Given the description of an element on the screen output the (x, y) to click on. 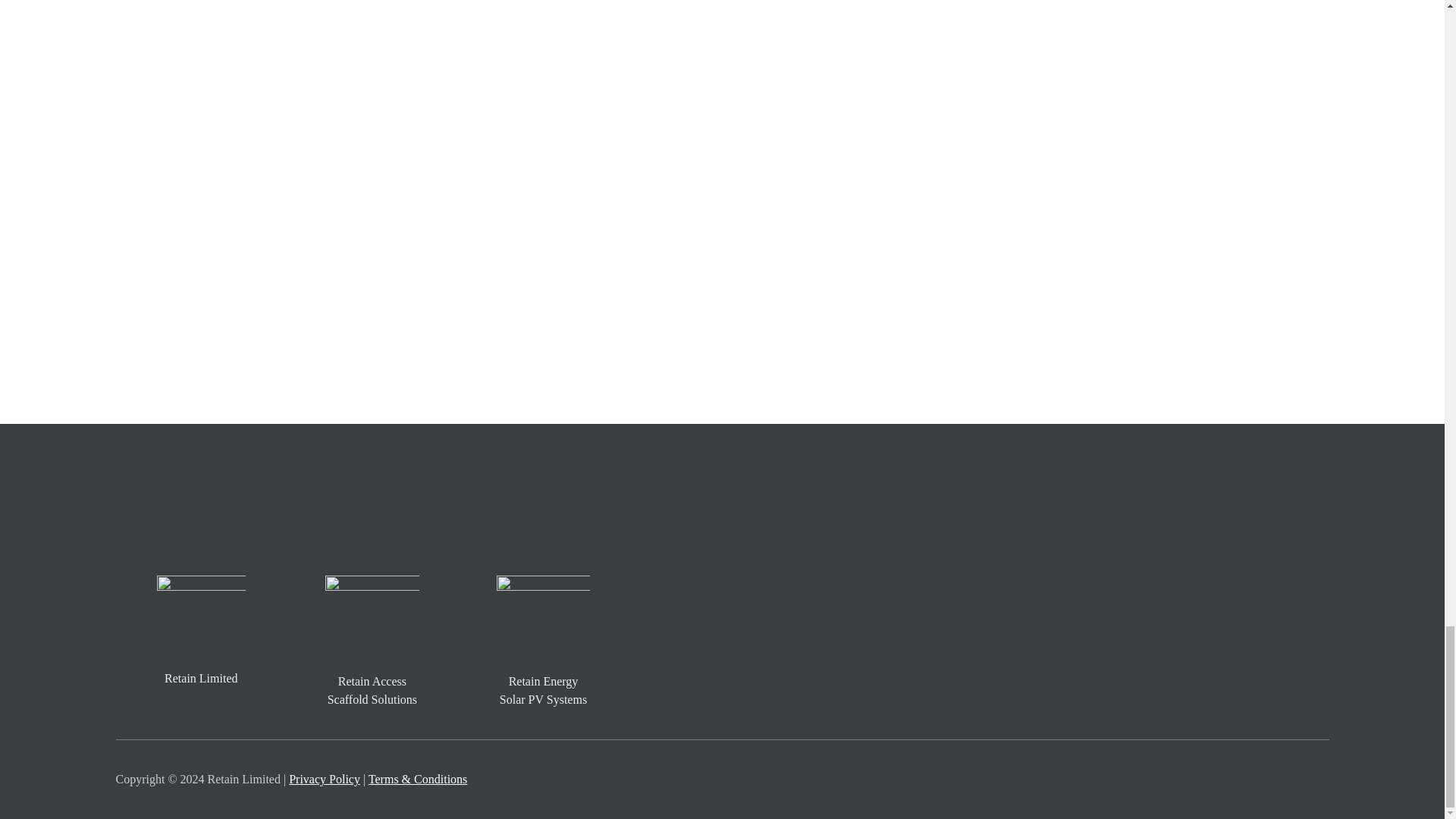
Retain Energy (543, 680)
Submit (314, 398)
Retain Access (371, 680)
Retain Limited (200, 677)
